Given the description of an element on the screen output the (x, y) to click on. 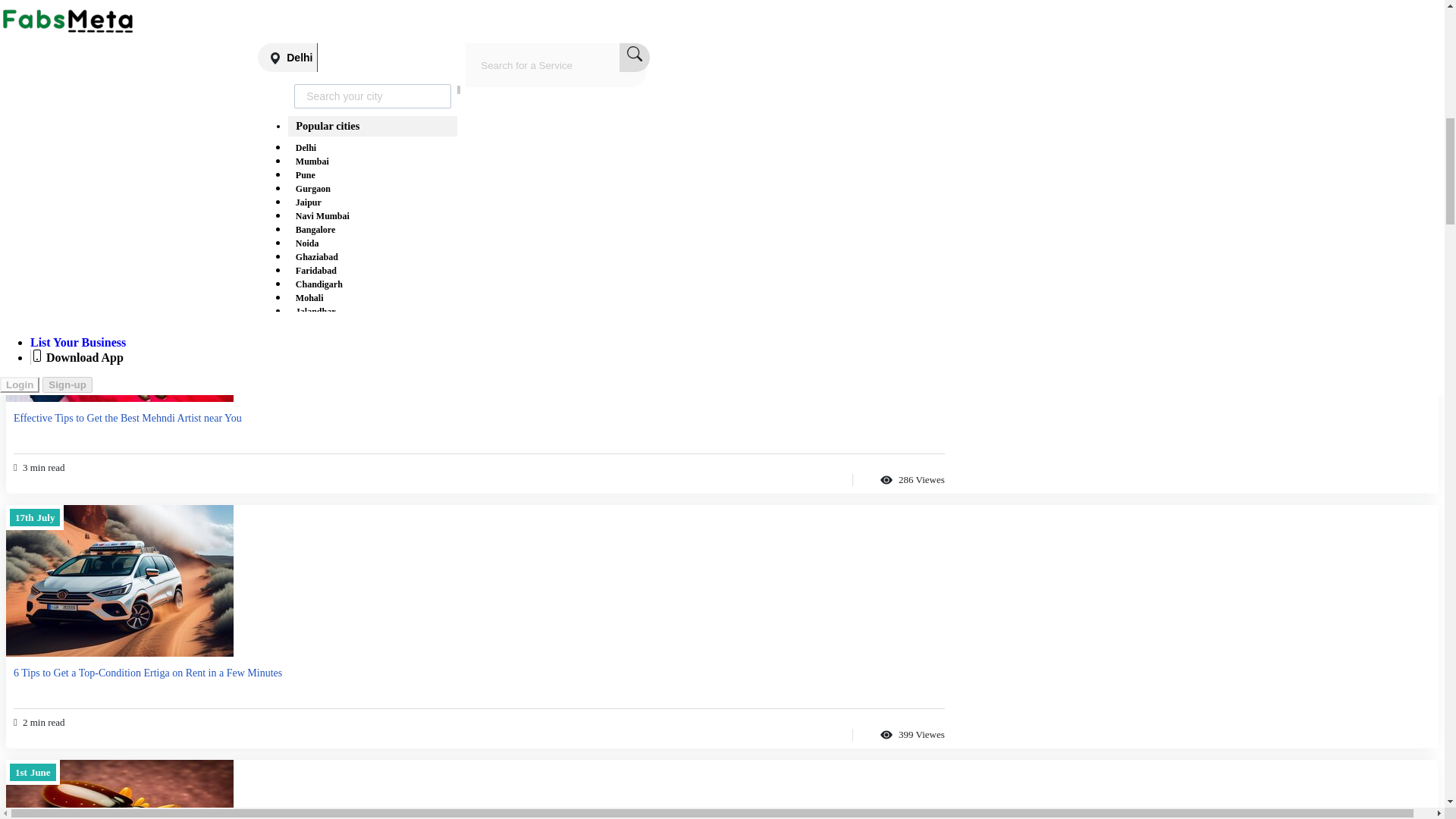
Effective Tips to Get the Best Mehndi Artist near You (118, 326)
Effective Tips to Get the Best Mehndi Artist near You (255, 327)
